Given the description of an element on the screen output the (x, y) to click on. 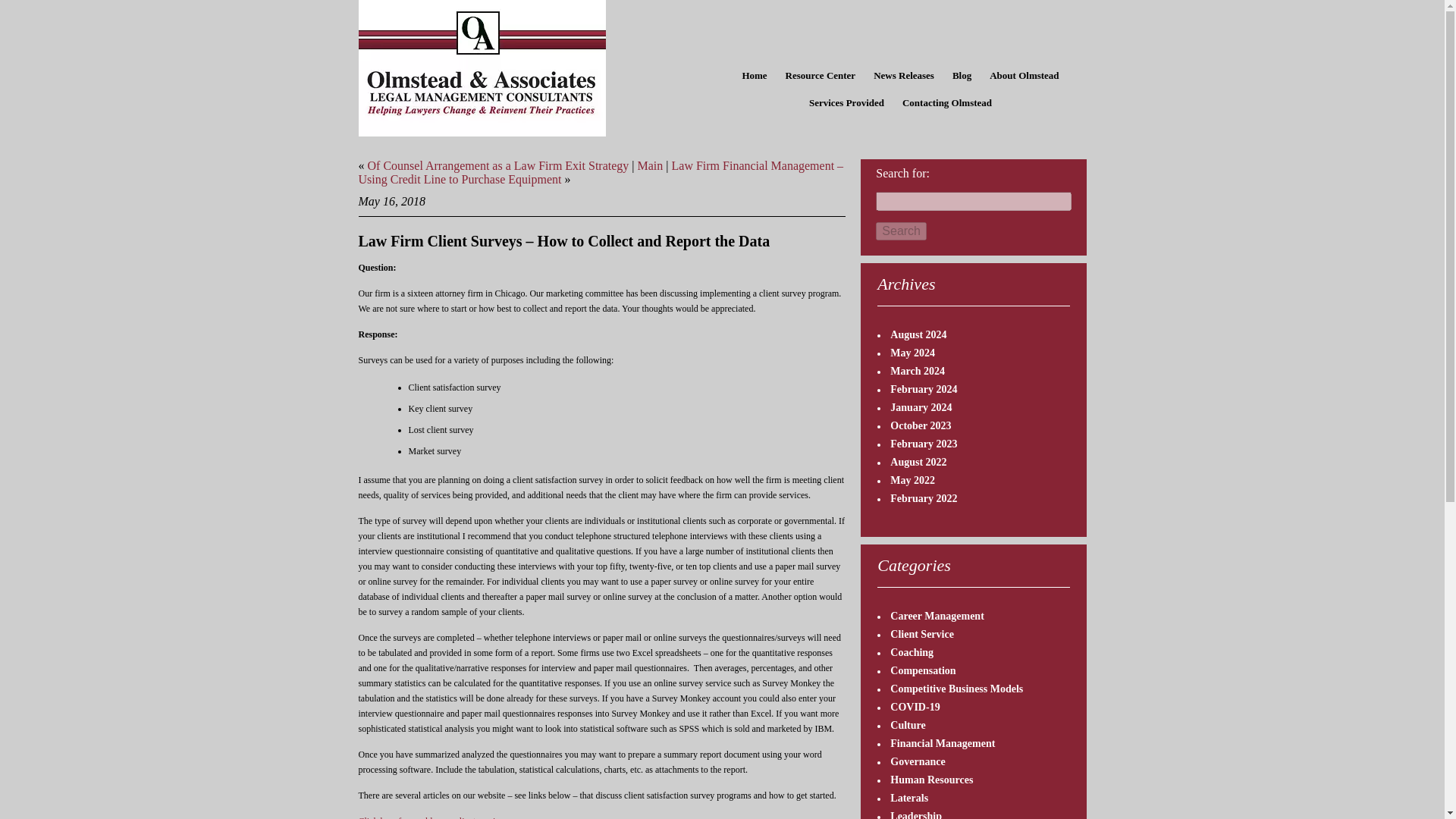
Of Counsel Arrangement as a Law Firm Exit Strategy (497, 164)
Contacting Olmstead (946, 103)
Blog (961, 75)
Click here for our blog on client service (430, 817)
Home (753, 75)
News Releases (904, 75)
Search for: (973, 200)
Main (650, 164)
About Olmstead (1023, 75)
Services Provided (846, 103)
